Given the description of an element on the screen output the (x, y) to click on. 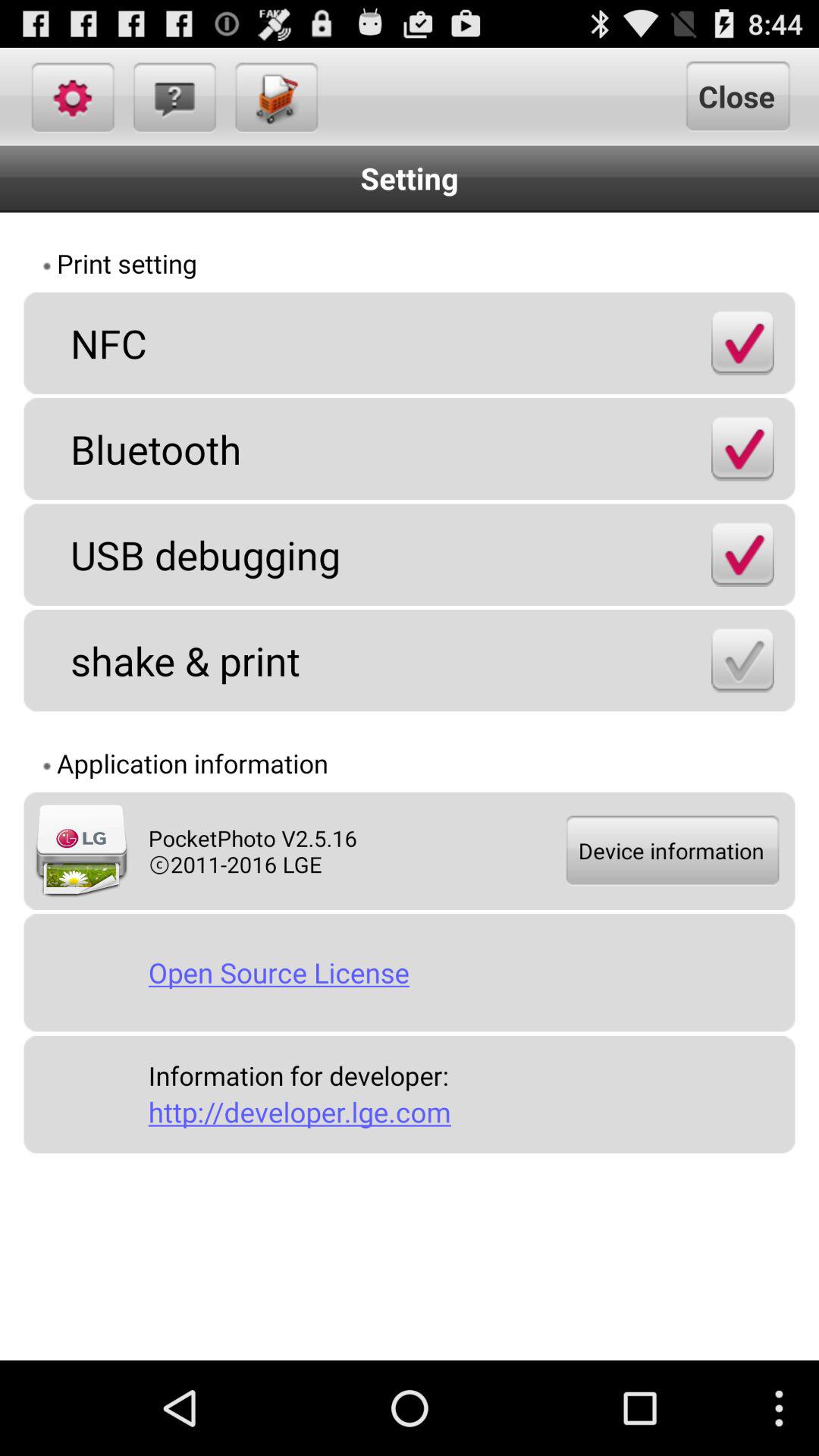
press device information item (671, 850)
